Given the description of an element on the screen output the (x, y) to click on. 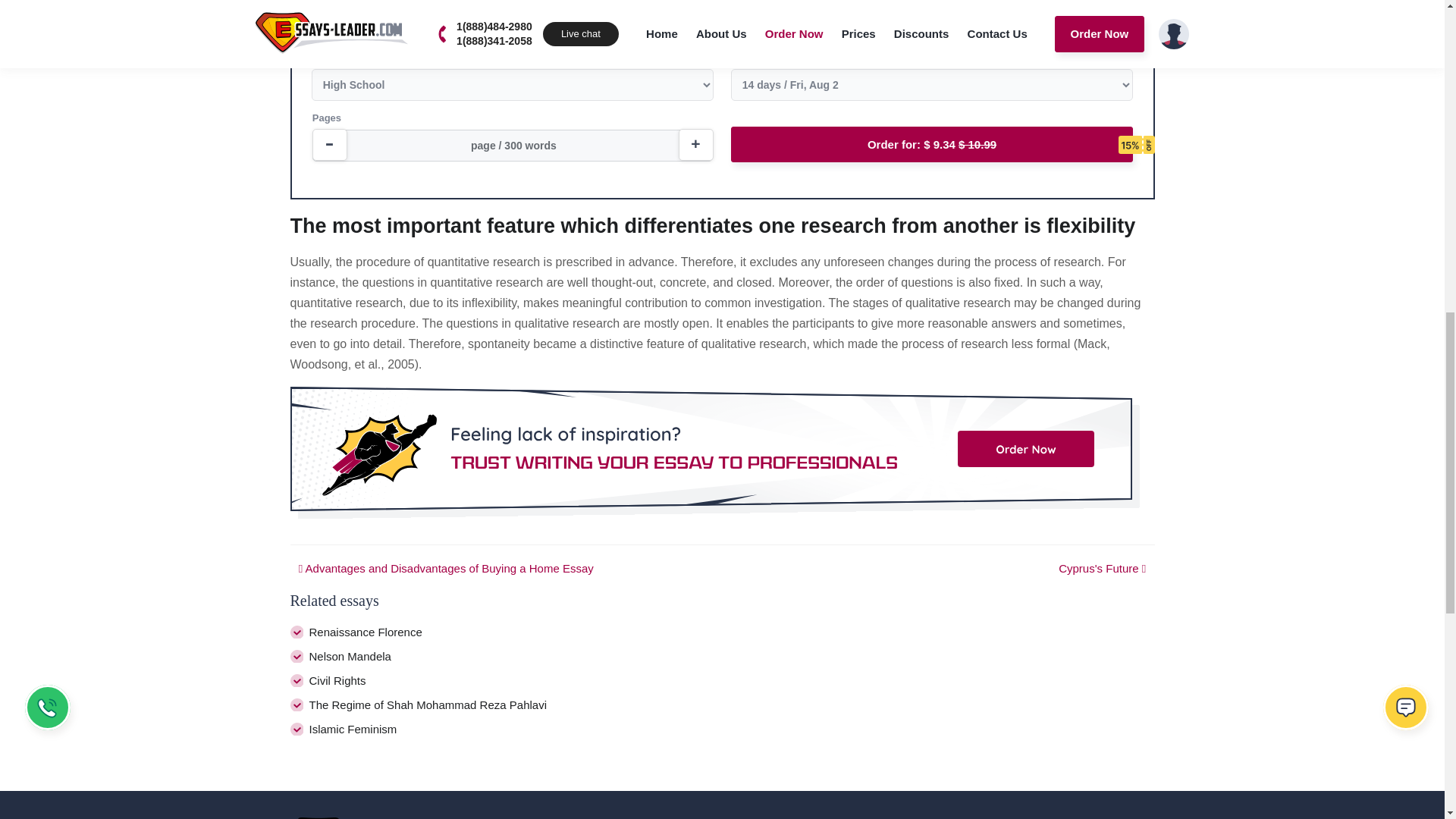
Plus (695, 144)
Minus (330, 144)
